Given the description of an element on the screen output the (x, y) to click on. 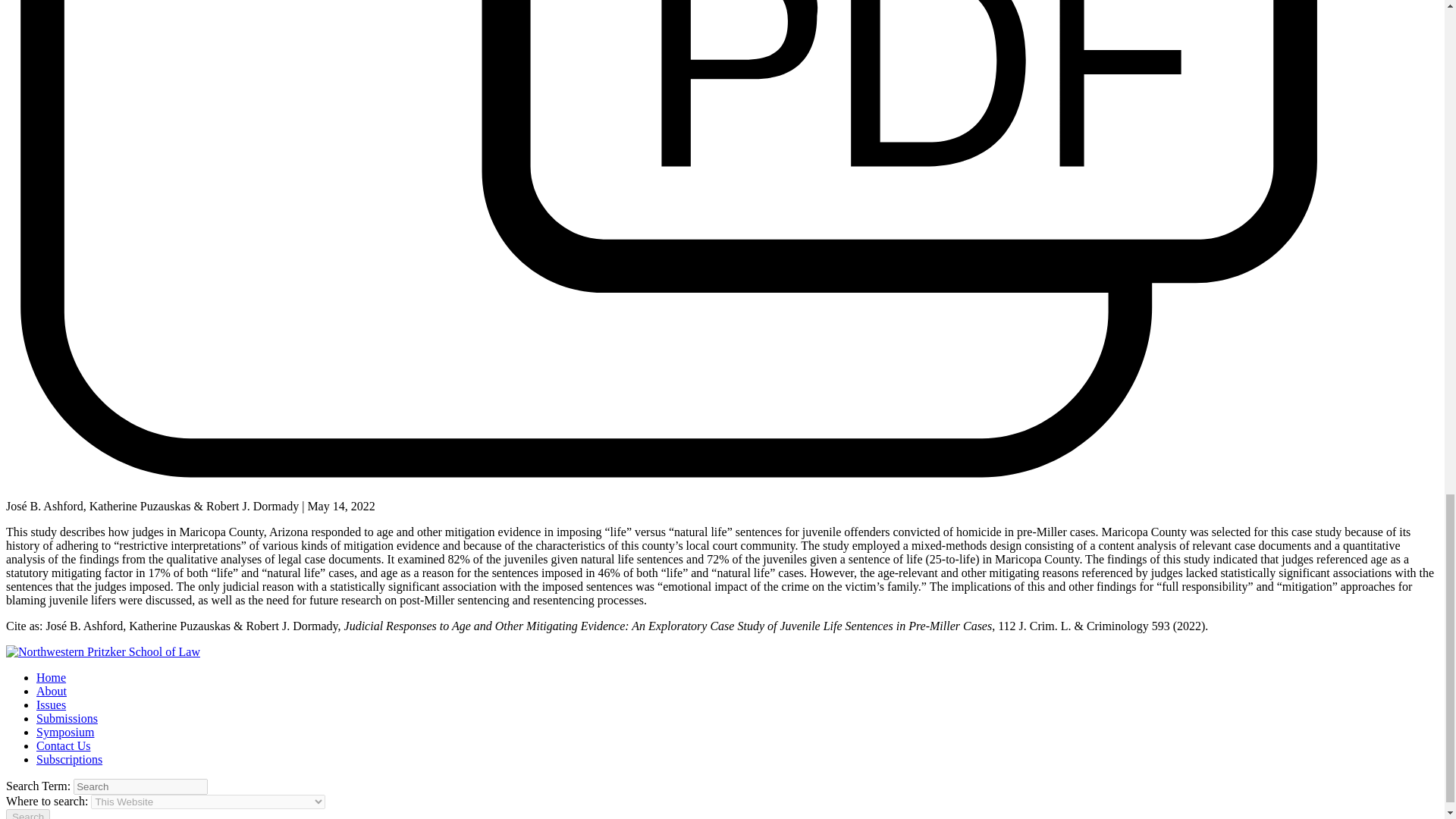
Contact Us (63, 745)
Symposium (65, 731)
Subscriptions (68, 758)
Northwestern Pritzker School of Law (102, 651)
Submissions (66, 717)
Home (50, 676)
Issues (50, 704)
About (51, 690)
